Given the description of an element on the screen output the (x, y) to click on. 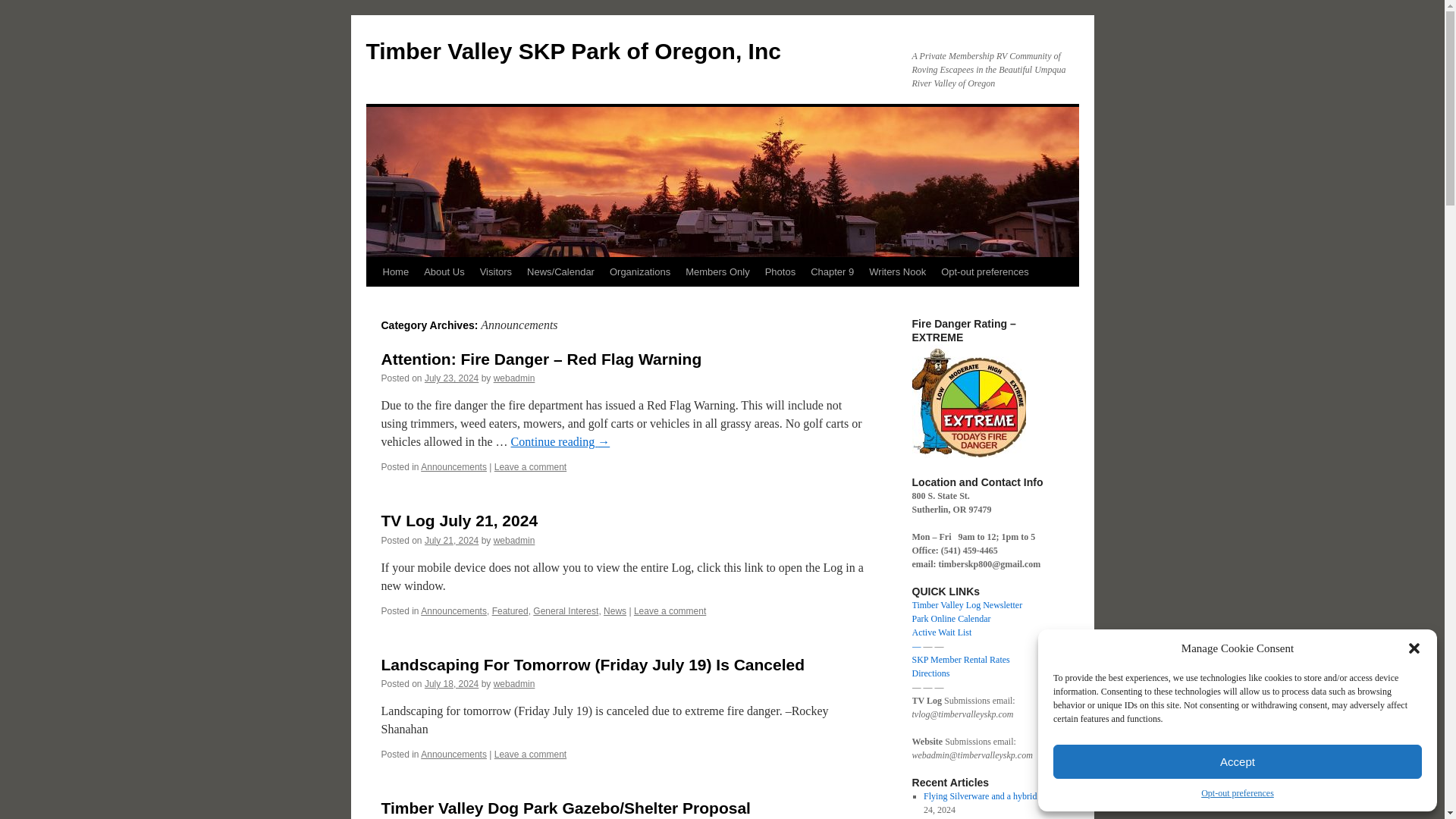
Timber Valley SKP Park of Oregon, Inc (572, 50)
3:00 AM (452, 540)
About Us (443, 271)
Visitors (495, 271)
Home (395, 271)
View all posts by webadmin (514, 378)
Organizations (640, 271)
Members Only (717, 271)
7:46 AM (452, 683)
Chapter 9 (832, 271)
Opt-out preferences (1237, 793)
Photos (780, 271)
View all posts by webadmin (514, 540)
Accept (1237, 761)
5:29 PM (452, 378)
